Given the description of an element on the screen output the (x, y) to click on. 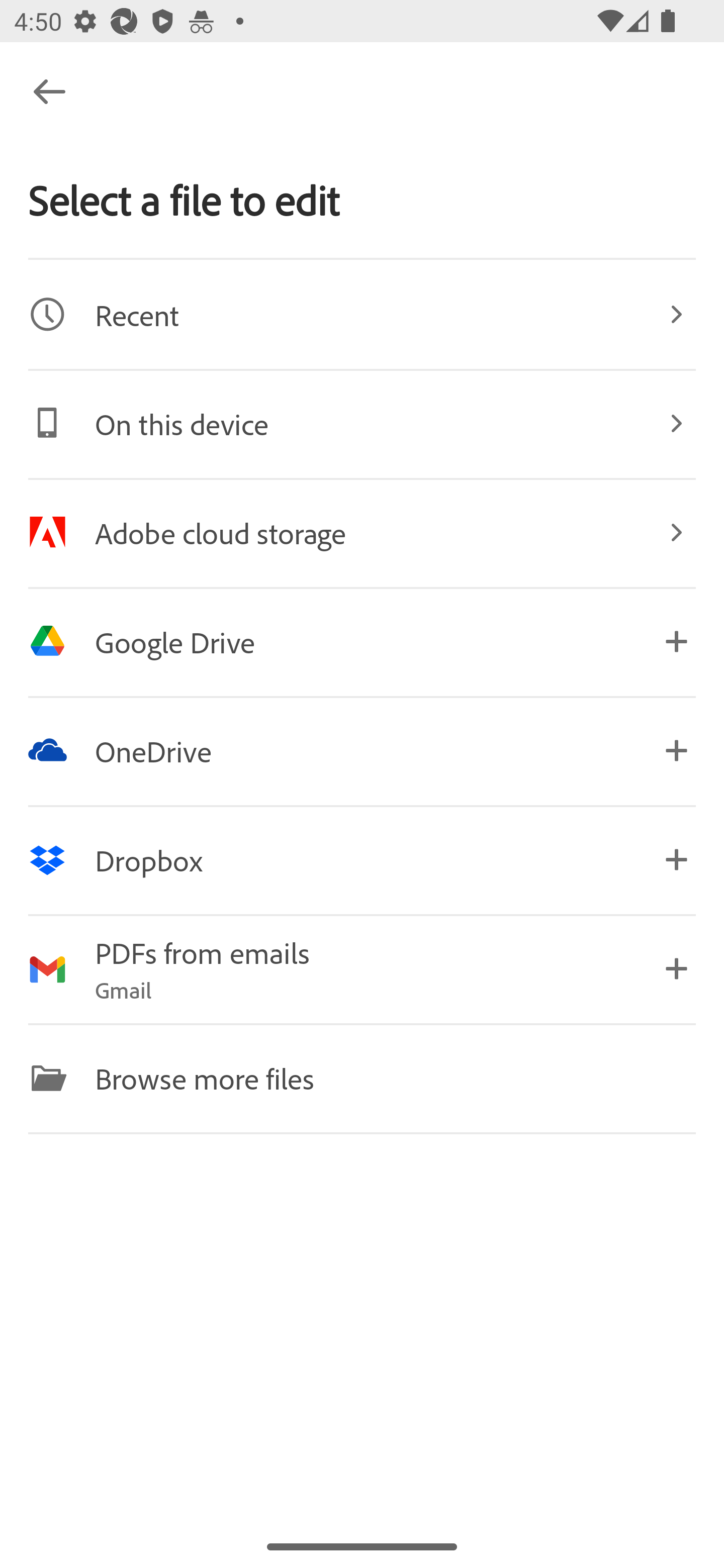
Navigate up (49, 91)
Image Recent (362, 314)
Image On this device (362, 423)
Image Adobe cloud storage (362, 532)
Image Google Drive (362, 641)
Image OneDrive (362, 750)
Image Dropbox (362, 859)
Image PDFs from emails Gmail (362, 968)
Image Browse more files (362, 1077)
